Given the description of an element on the screen output the (x, y) to click on. 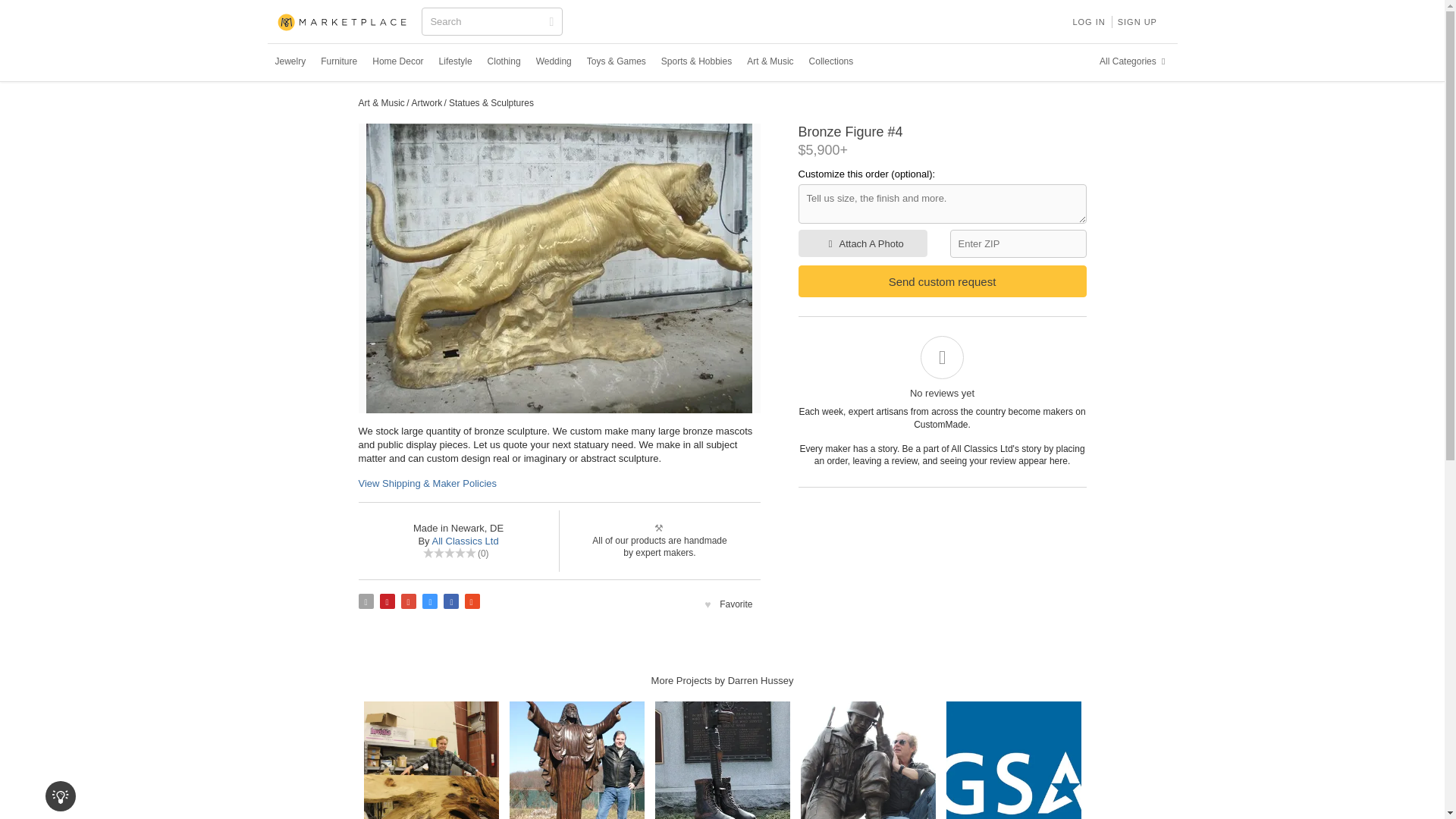
SIGN UP (1137, 21)
LOG IN (1087, 21)
Log in to CustomMade (1087, 21)
All Categories (1134, 61)
CUSTOMMADE (342, 22)
Jewelry (289, 61)
Custom Jewelry (289, 61)
